Given the description of an element on the screen output the (x, y) to click on. 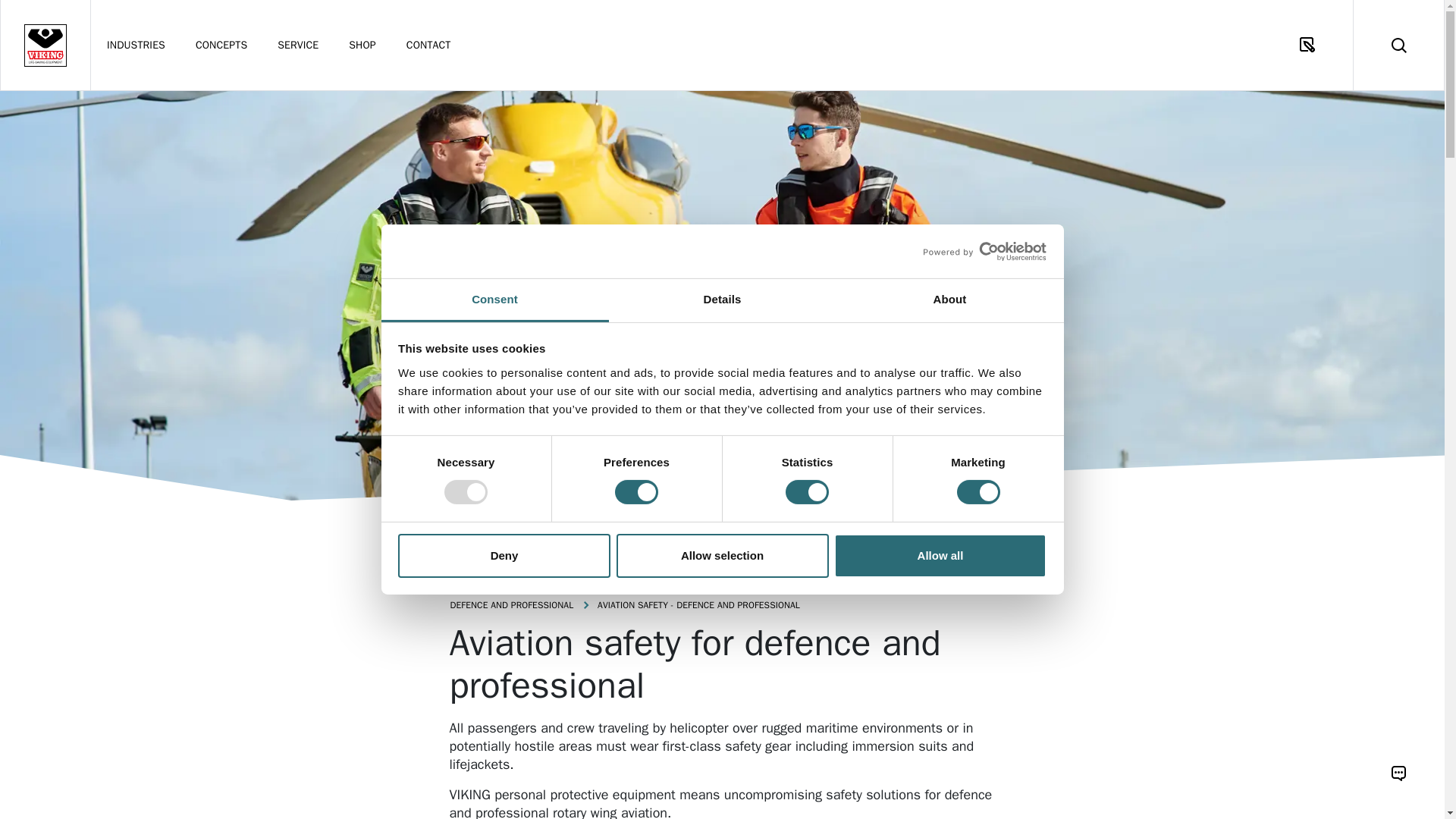
Consent (494, 300)
About (948, 300)
Details (721, 300)
